Given the description of an element on the screen output the (x, y) to click on. 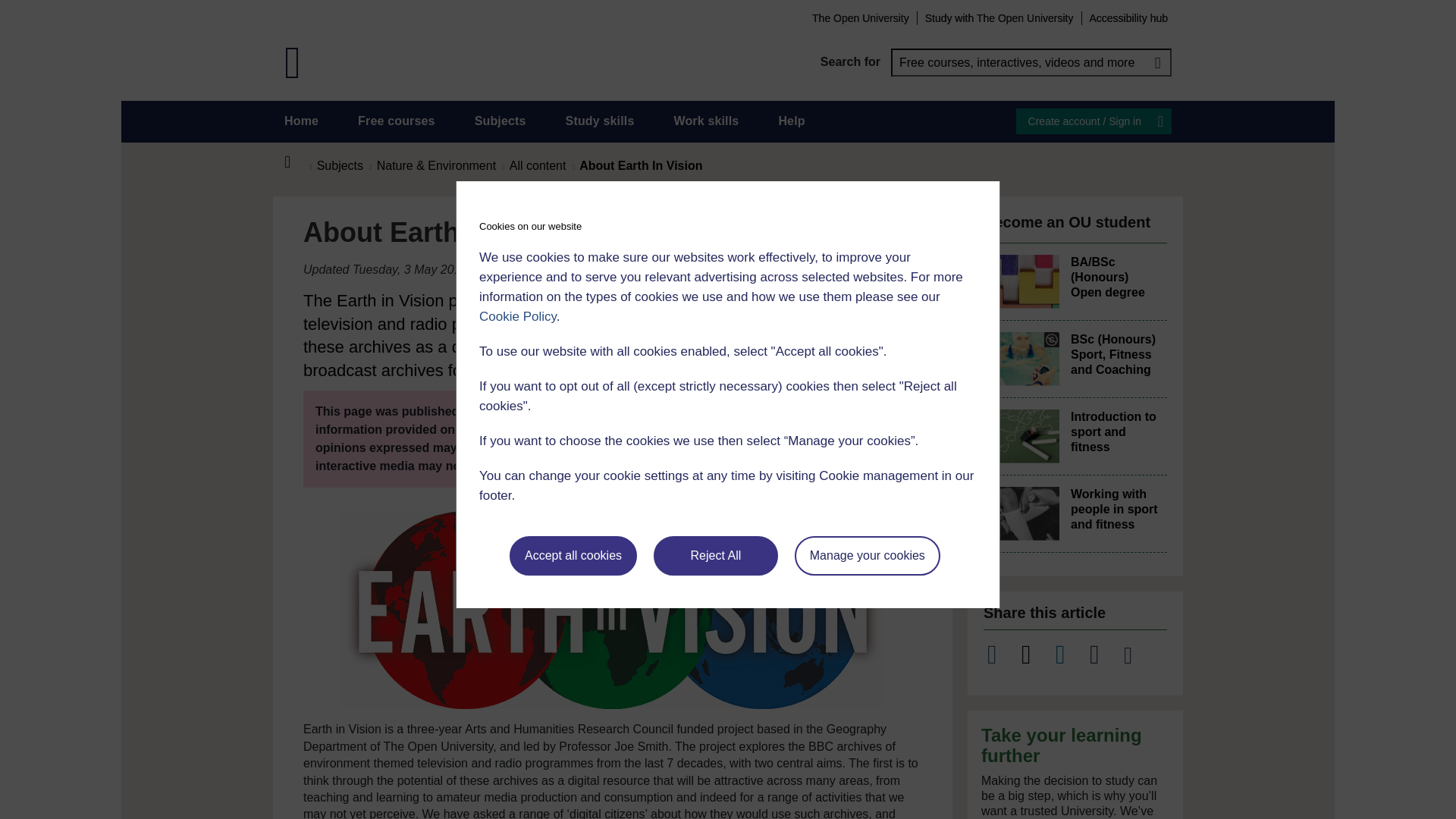
Work skills (705, 120)
The Open University (860, 17)
Accept all cookies (573, 555)
Free courses (396, 120)
Study with The Open University (999, 17)
Subjects (499, 120)
Help (791, 120)
Cookie Policy (517, 316)
Home (295, 162)
Search (1157, 62)
Reject All (715, 555)
Home (300, 120)
Manage your cookies (867, 555)
Study skills (600, 120)
Accessibility hub (1129, 17)
